Given the description of an element on the screen output the (x, y) to click on. 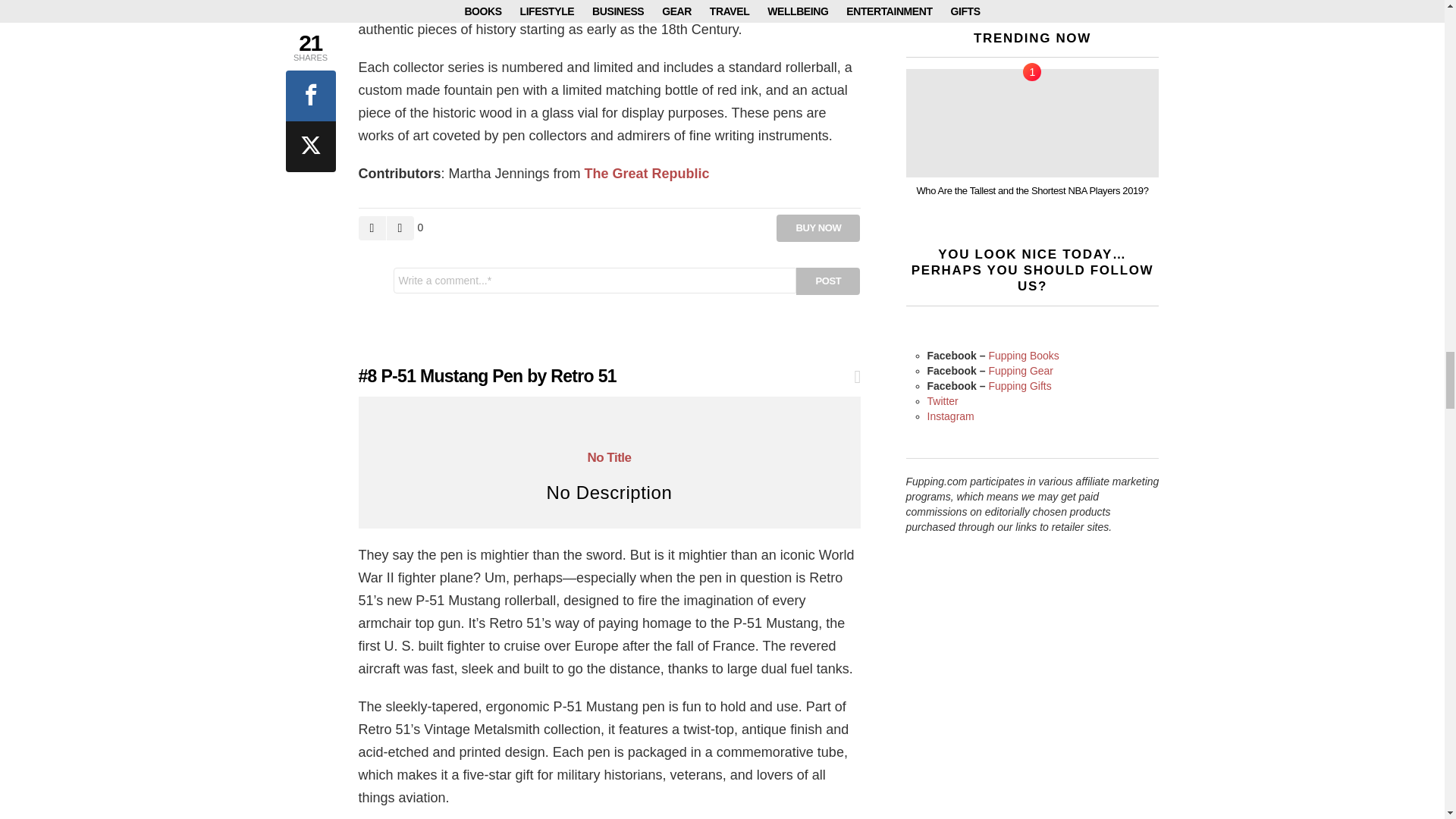
Post (828, 280)
